Given the description of an element on the screen output the (x, y) to click on. 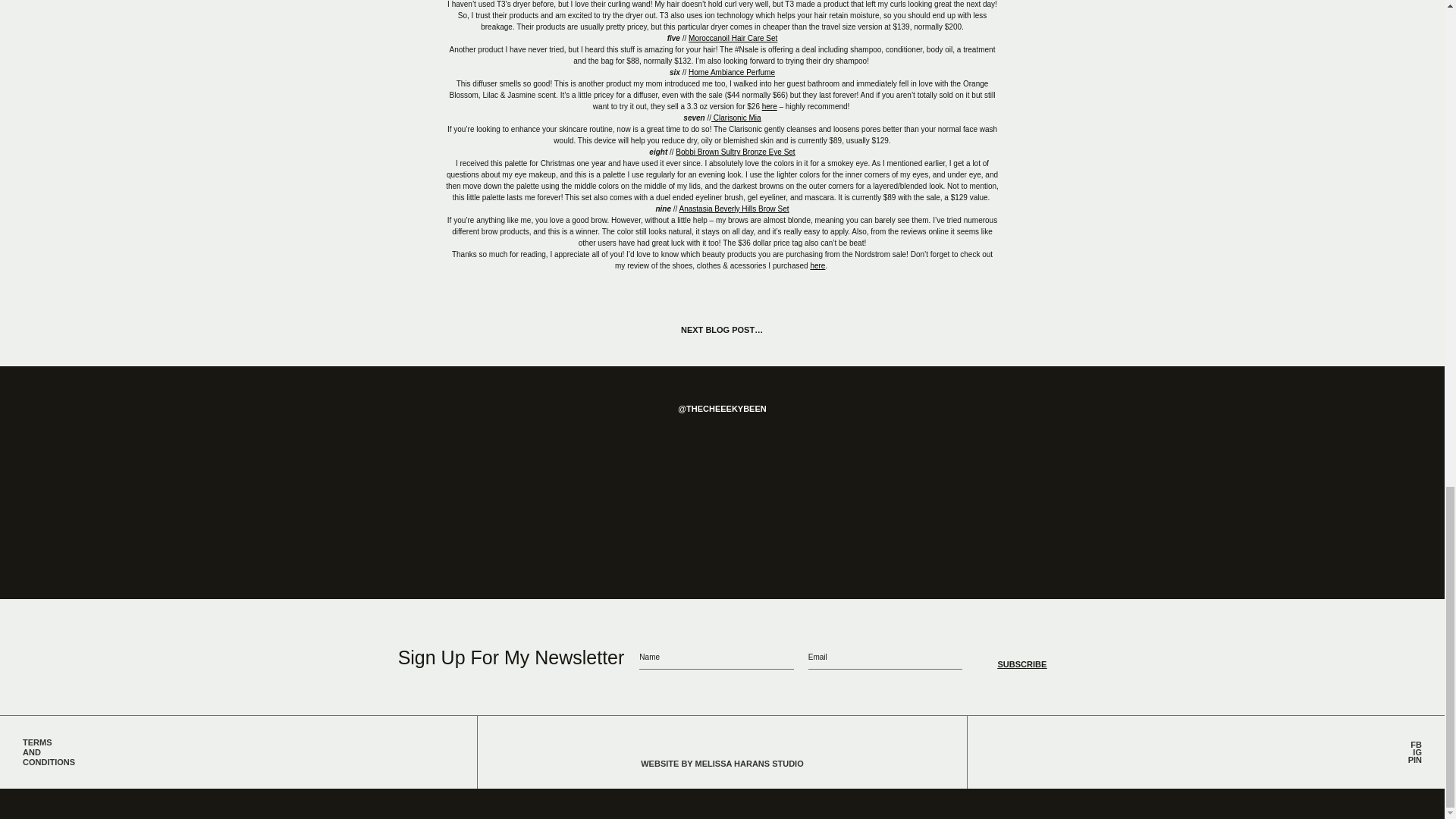
here (769, 106)
Moroccanoil Hair Care Set (732, 38)
Home Ambiance Perfume (731, 71)
